Given the description of an element on the screen output the (x, y) to click on. 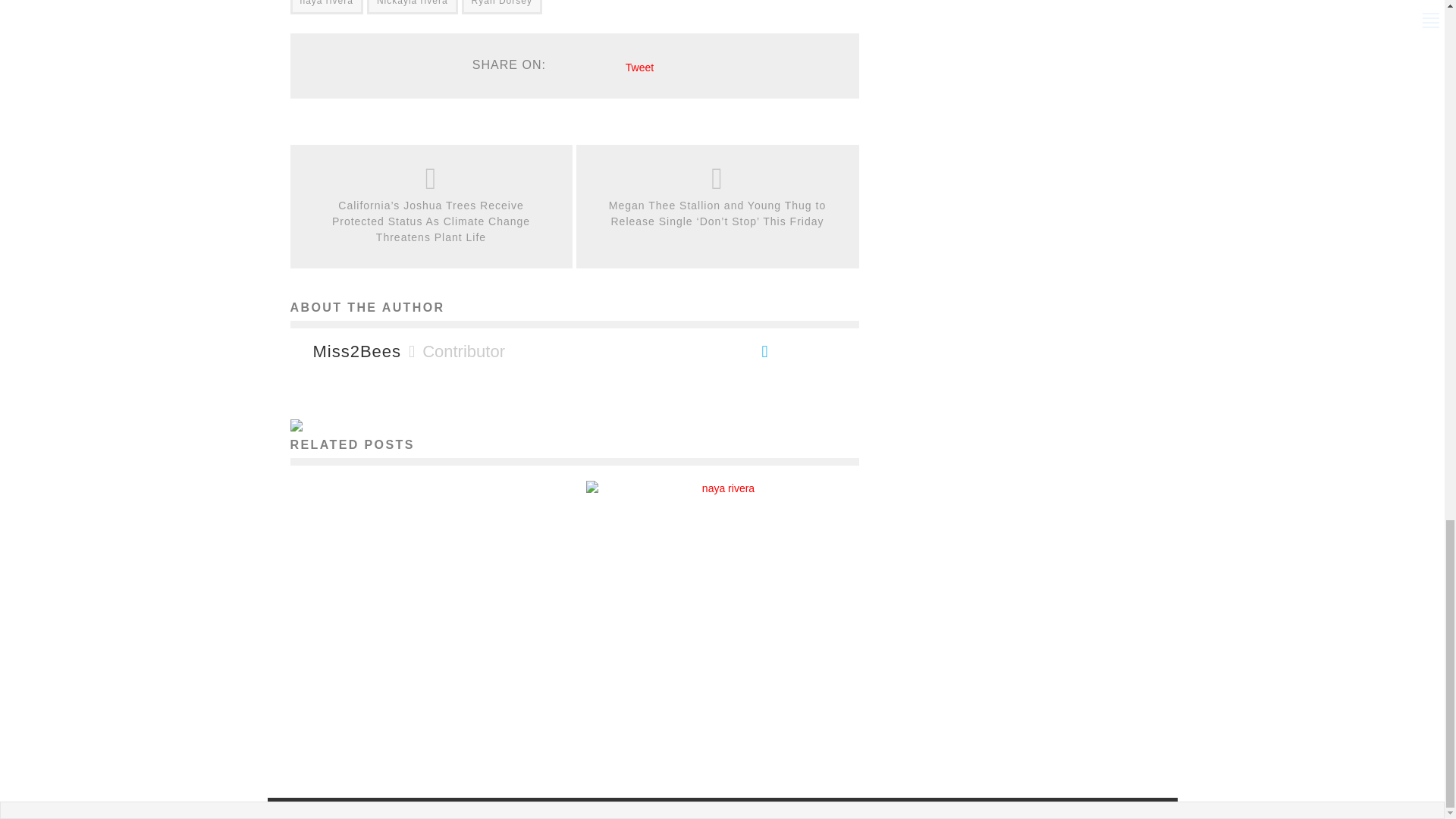
Matia (688, 474)
naya rivera (325, 7)
Nickayla rivera (412, 7)
Chika Dunu (380, 731)
Tweet (639, 67)
Ryan Dorsey (501, 7)
Miss2Bees (357, 351)
